Given the description of an element on the screen output the (x, y) to click on. 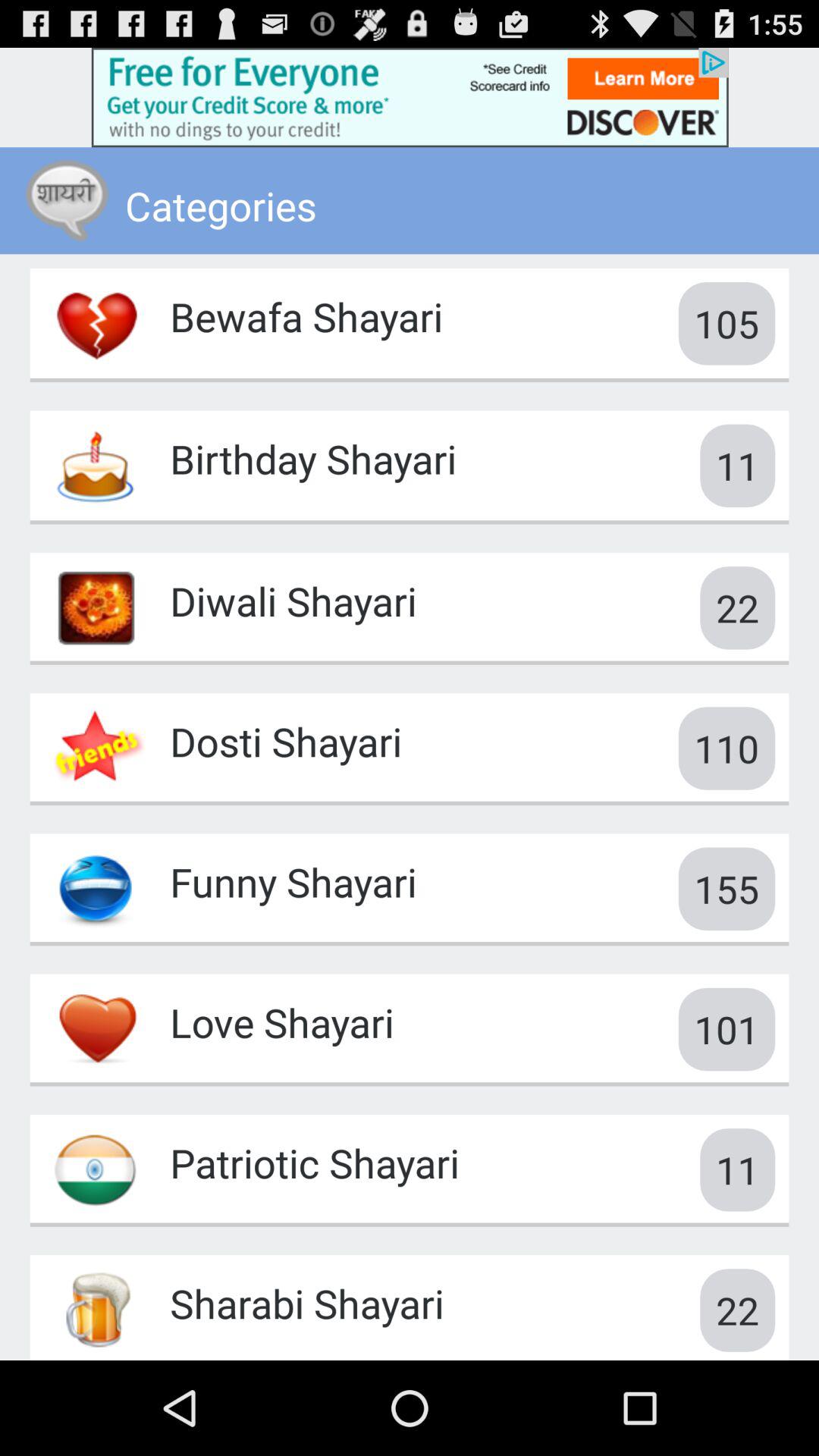
open advertisement (409, 97)
